Given the description of an element on the screen output the (x, y) to click on. 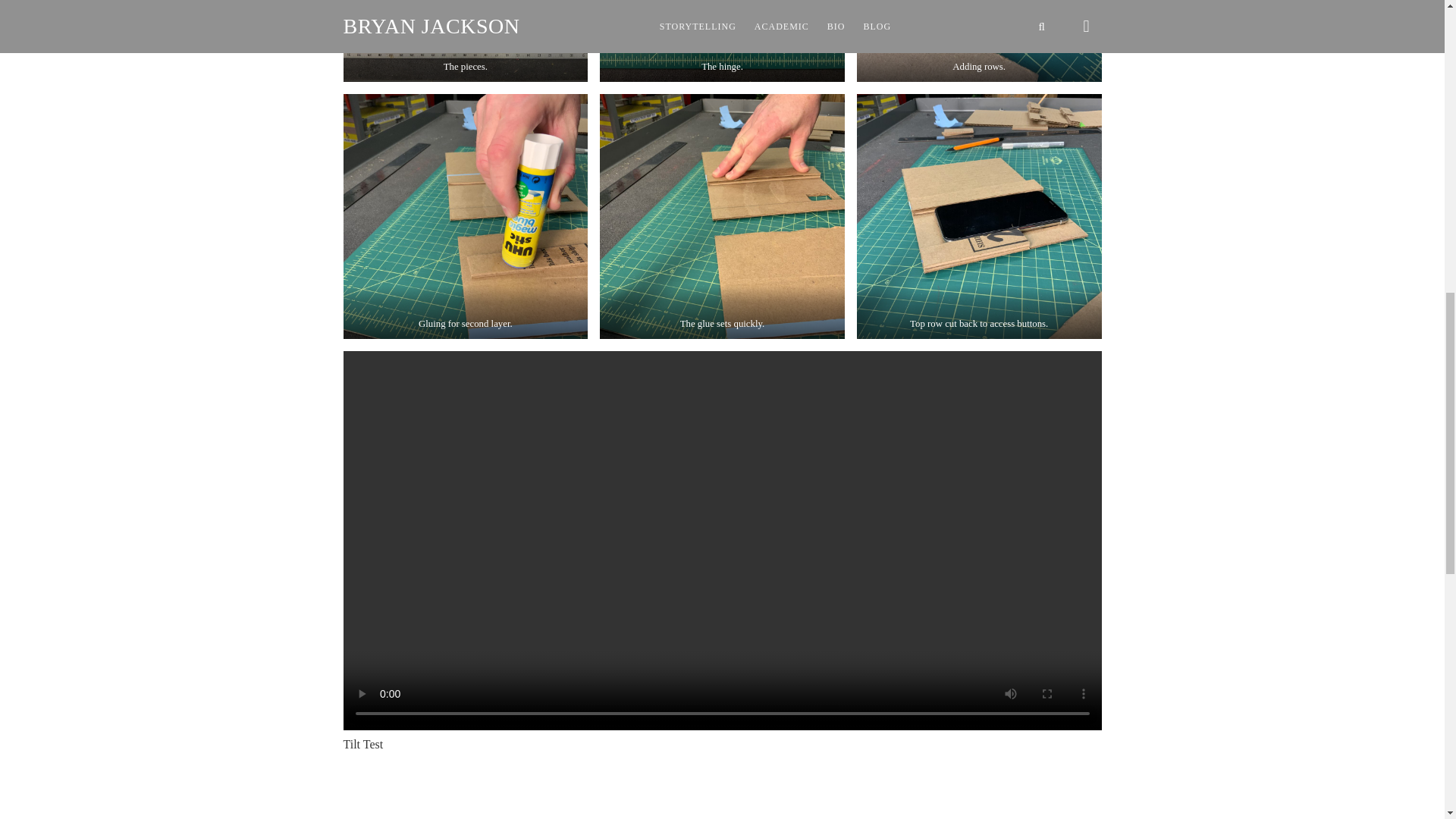
Back to top (1413, 26)
